Given the description of an element on the screen output the (x, y) to click on. 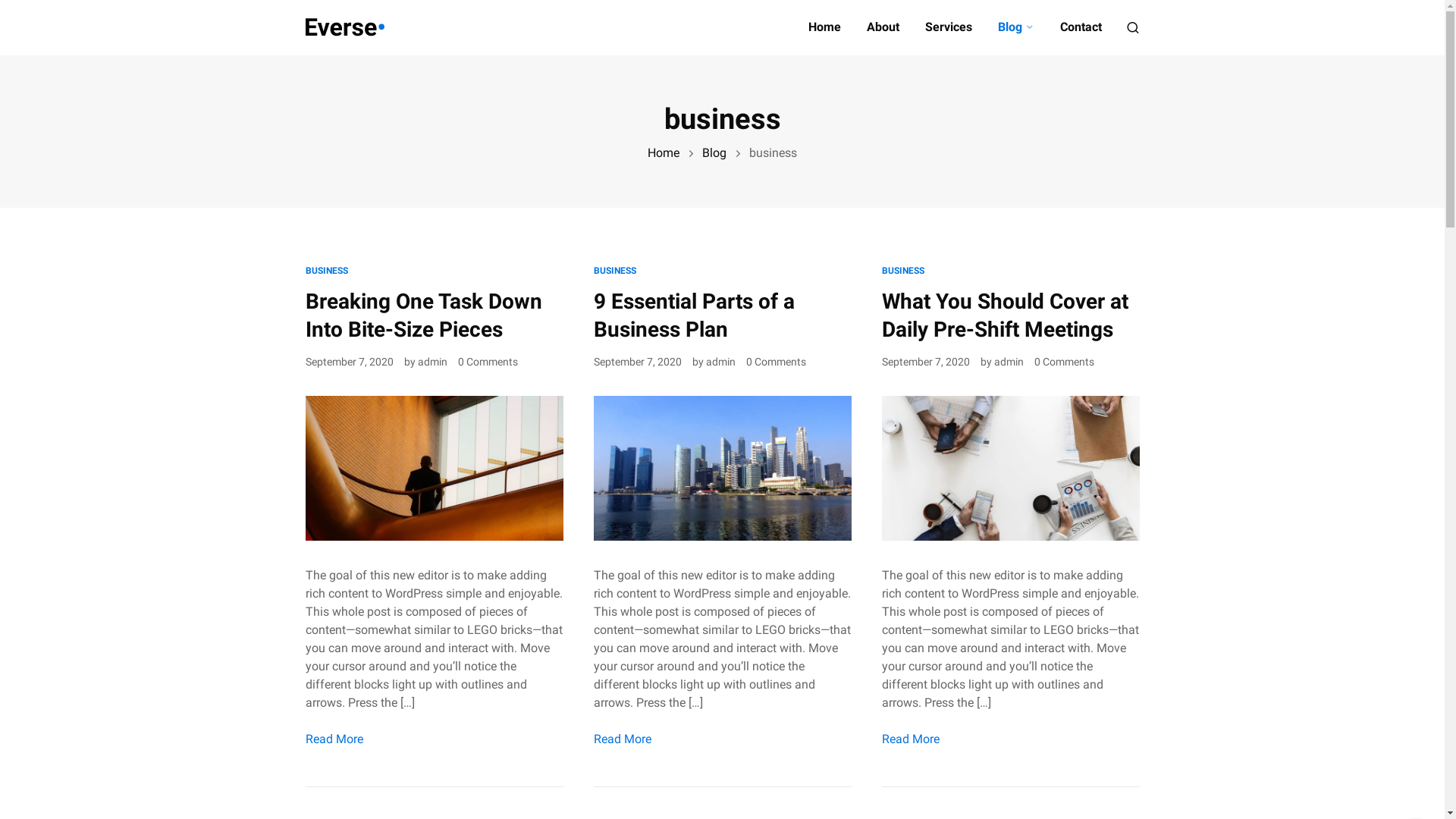
9 Essential Parts of a Business Plan
Read More Element type: text (621, 739)
9 Essential Parts of a Business Plan Element type: hover (721, 467)
BUSINESS Element type: text (614, 270)
Services Element type: text (948, 27)
BUSINESS Element type: text (325, 270)
Blog Element type: text (1015, 27)
What You Should Cover at Daily Pre-Shift Meetings Element type: hover (1010, 467)
0 Comments Element type: text (776, 362)
Breaking One Task Down Into Bite-Size Pieces Element type: hover (433, 467)
What You Should Cover at Daily Pre-Shift Meetings
Read More Element type: text (909, 739)
0 Comments Element type: text (487, 362)
by admin Element type: text (1000, 362)
Breaking One Task Down Into Bite-Size Pieces
Read More Element type: text (333, 739)
Open Search Element type: hover (1132, 27)
9 Essential Parts of a Business Plan Element type: text (693, 314)
About Element type: text (882, 27)
Blog Element type: text (714, 152)
0 Comments Element type: text (1064, 362)
by admin Element type: text (712, 362)
Contact Element type: text (1080, 27)
BUSINESS Element type: text (902, 270)
Home Element type: text (663, 152)
Breaking One Task Down Into Bite-Size Pieces Element type: text (422, 314)
Home Element type: text (824, 27)
What You Should Cover at Daily Pre-Shift Meetings Element type: text (1004, 314)
by admin Element type: text (424, 362)
